Given the description of an element on the screen output the (x, y) to click on. 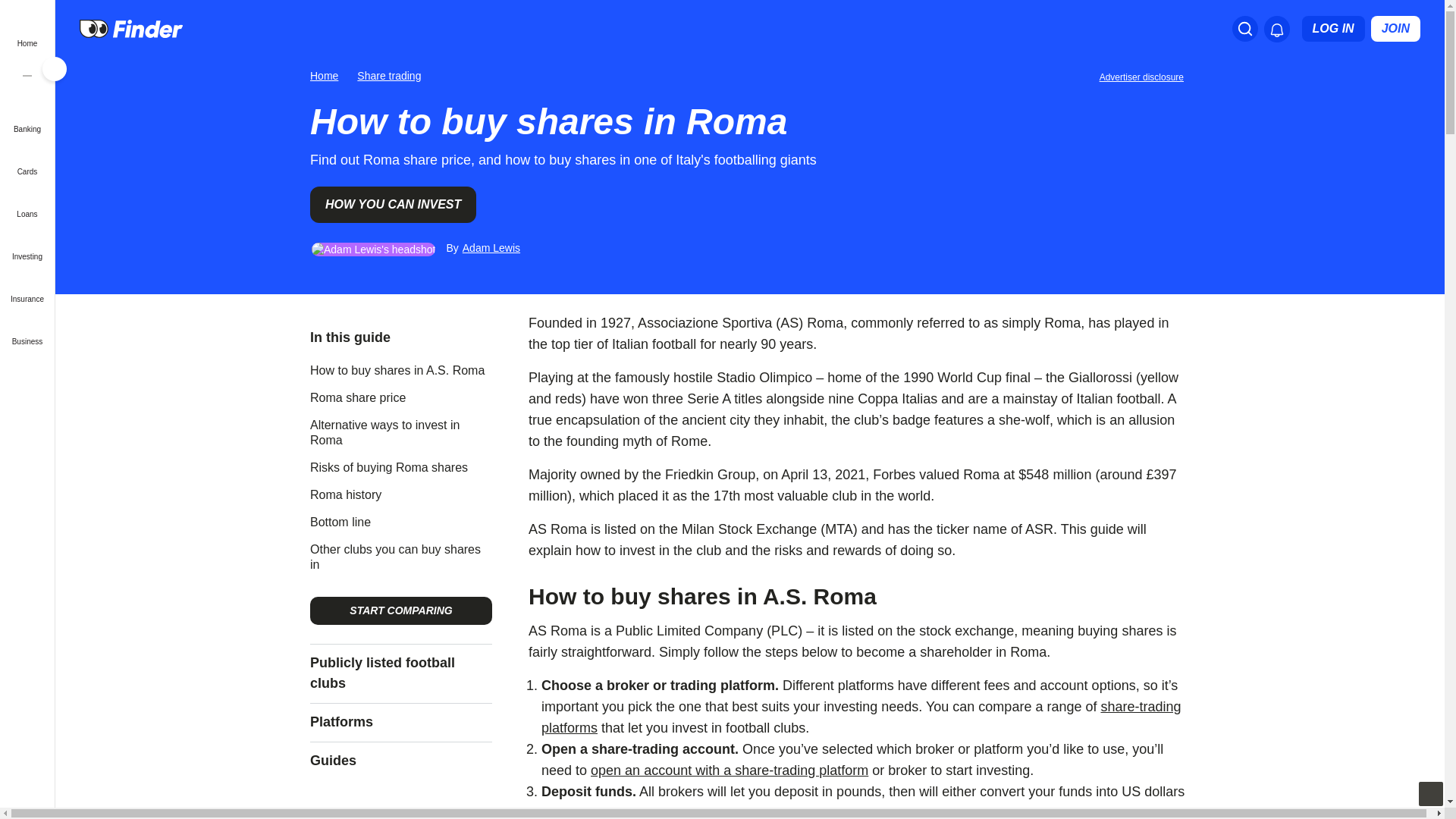
Back to Top (1430, 793)
Important information about this website (1144, 76)
